Given the description of an element on the screen output the (x, y) to click on. 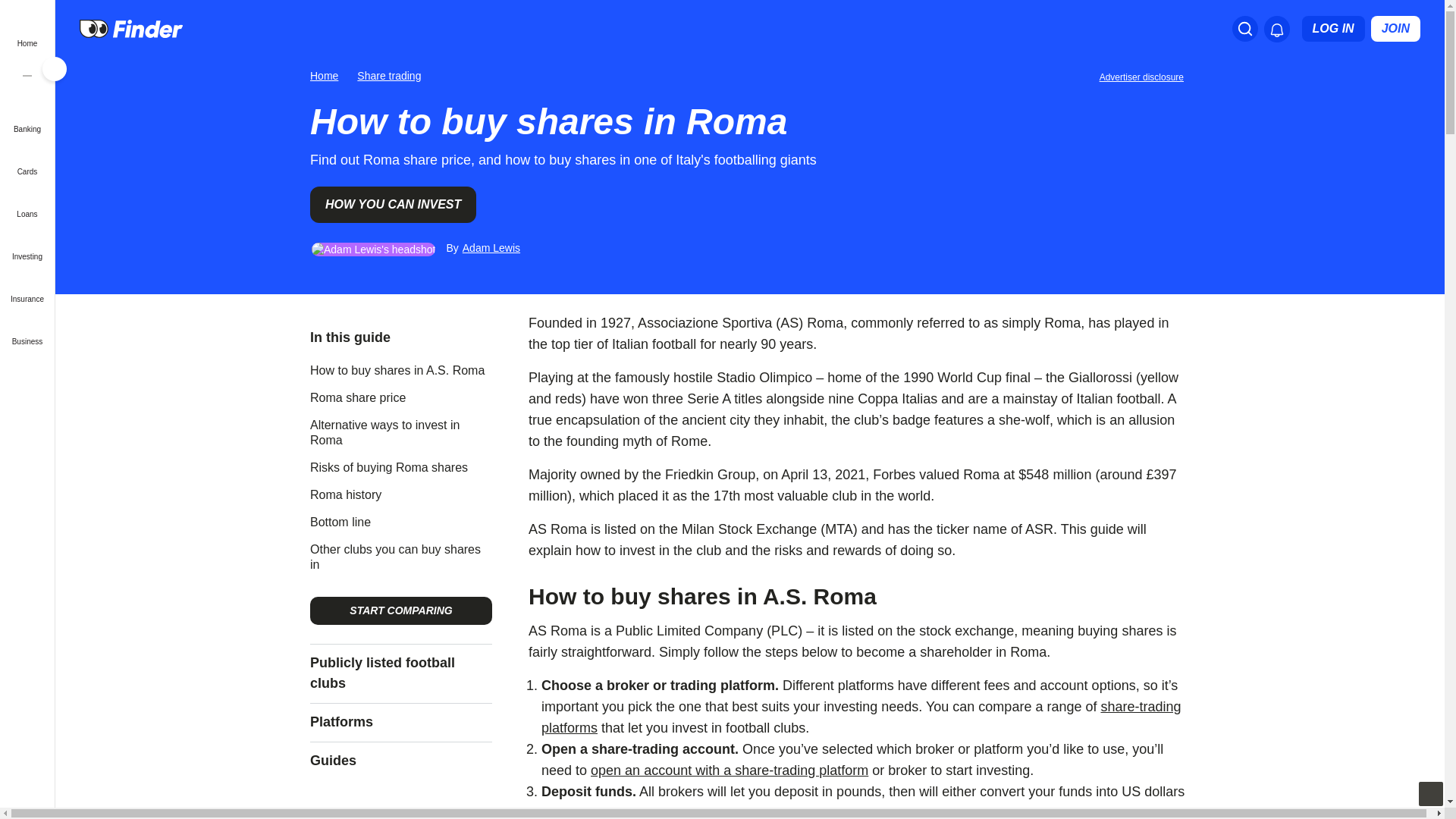
Back to Top (1430, 793)
Important information about this website (1144, 76)
